Given the description of an element on the screen output the (x, y) to click on. 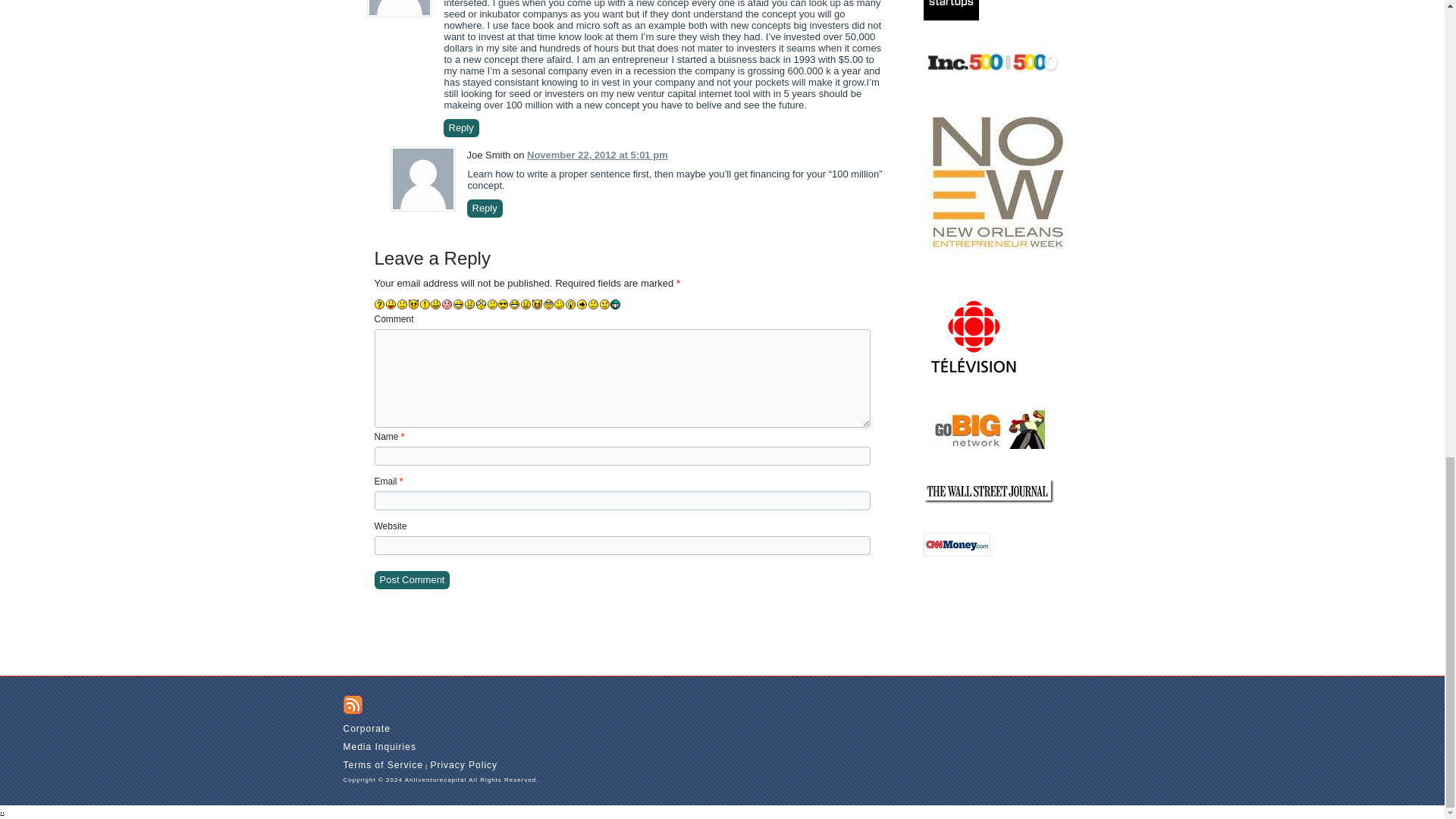
Post Comment (411, 579)
